Given the description of an element on the screen output the (x, y) to click on. 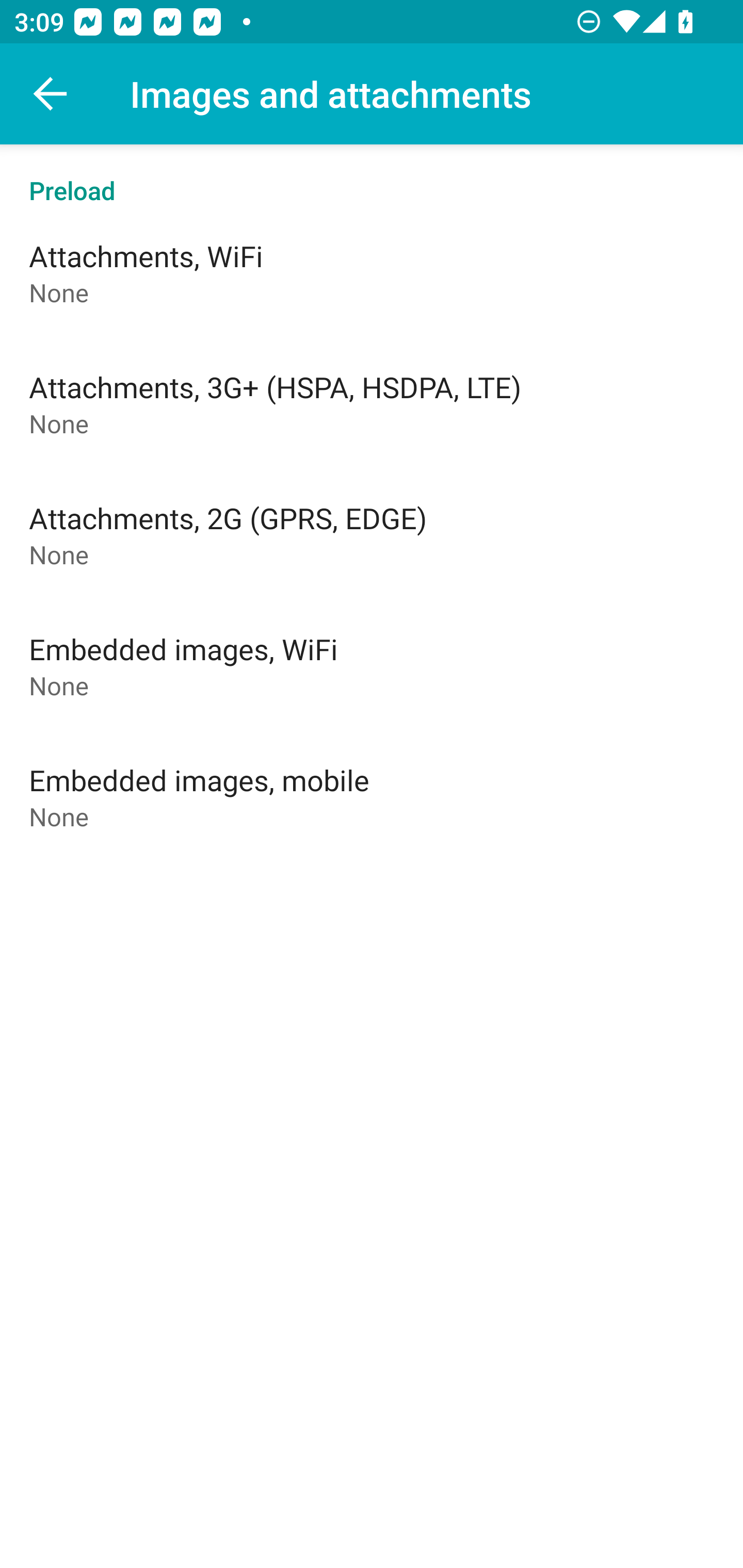
Navigate up (50, 93)
Attachments, WiFi None (371, 272)
Attachments, 3G+ (HSPA, HSDPA, LTE) None (371, 403)
Attachments, 2G (GPRS, EDGE) None (371, 534)
Embedded images, WiFi None (371, 665)
Embedded images, mobile None (371, 796)
